Given the description of an element on the screen output the (x, y) to click on. 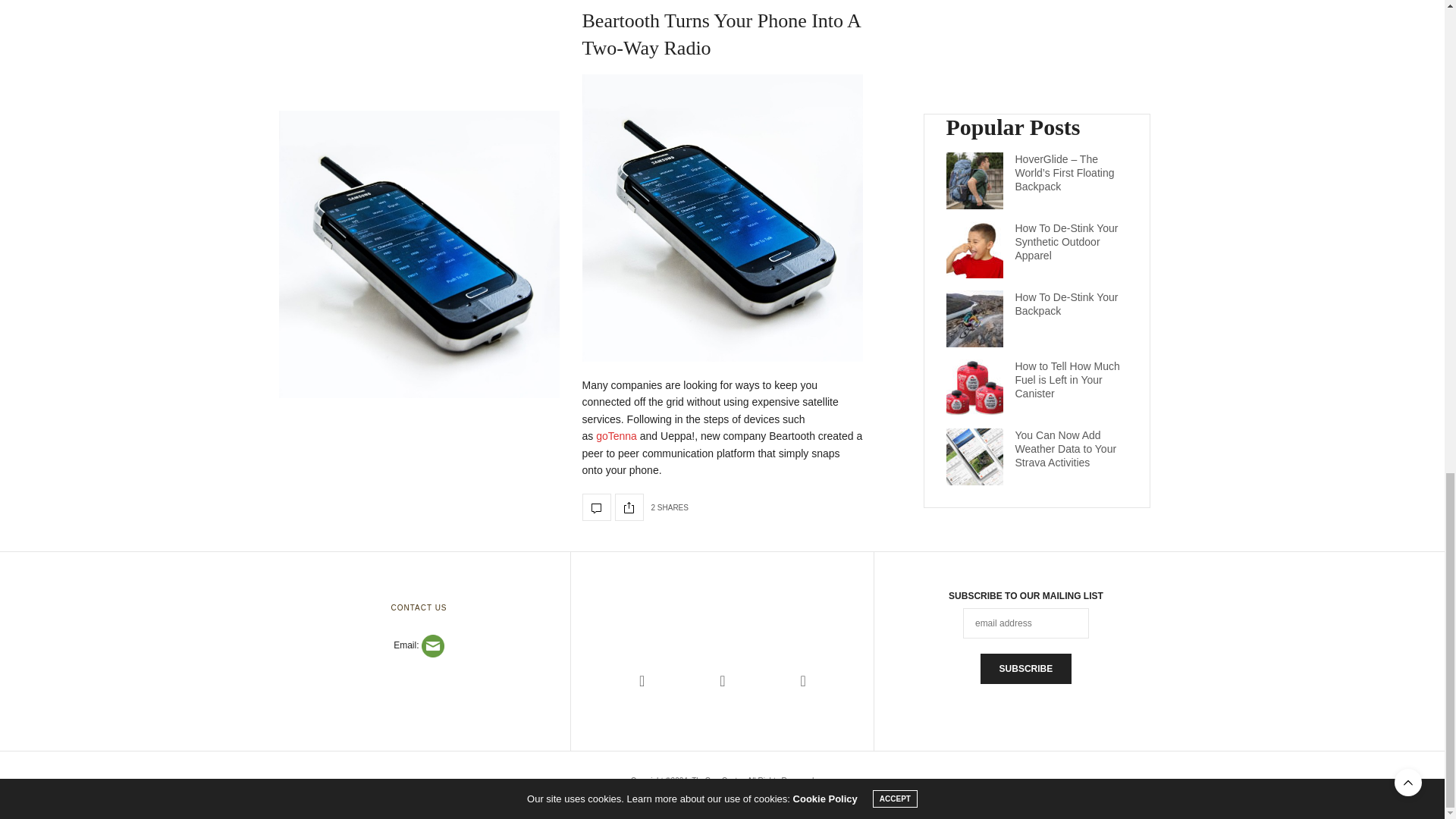
Beartooth Turns Your Phone Into A Two-Way Radio (721, 33)
goTenna Off The Grid Communication Device (616, 435)
Beartooth Turns Your Phone Into A Two-Way Radio (419, 254)
Beartooth Turns Your Phone Into A Two-Way Radio (596, 506)
Subscribe (1025, 668)
